Given the description of an element on the screen output the (x, y) to click on. 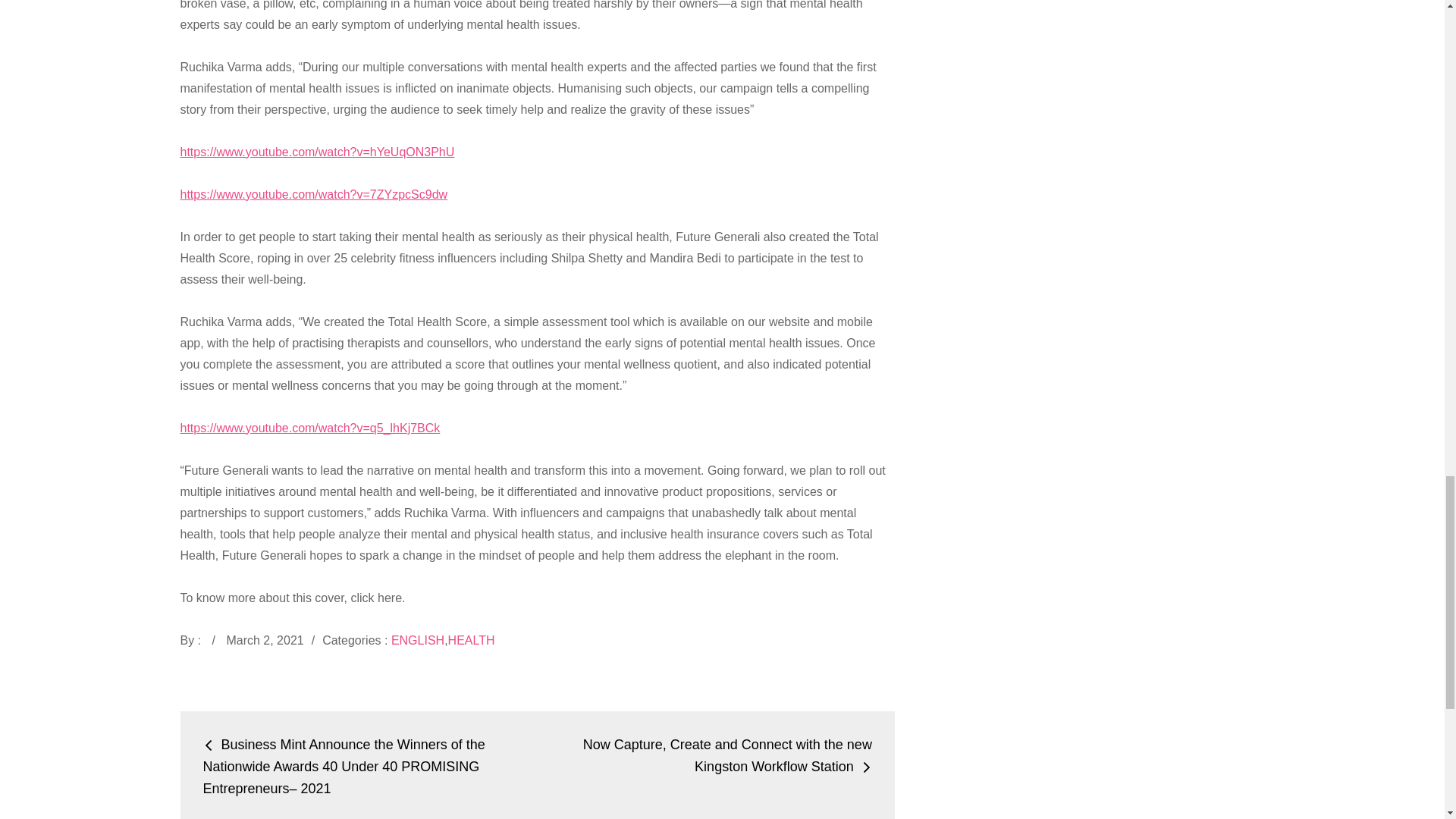
HEALTH (471, 640)
ENGLISH (417, 640)
March 2, 2021 (263, 640)
